Given the description of an element on the screen output the (x, y) to click on. 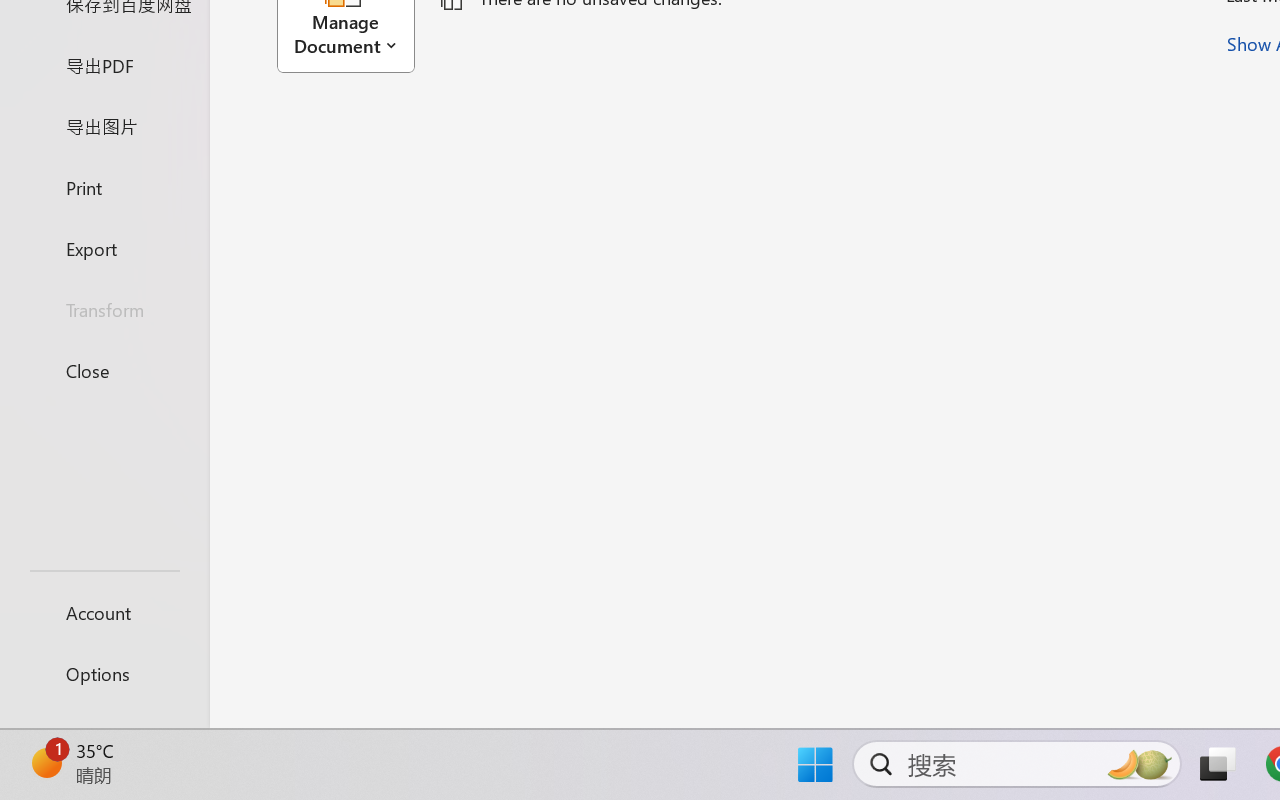
Options (104, 673)
Transform (104, 309)
Print (104, 186)
Export (104, 248)
Account (104, 612)
